Given the description of an element on the screen output the (x, y) to click on. 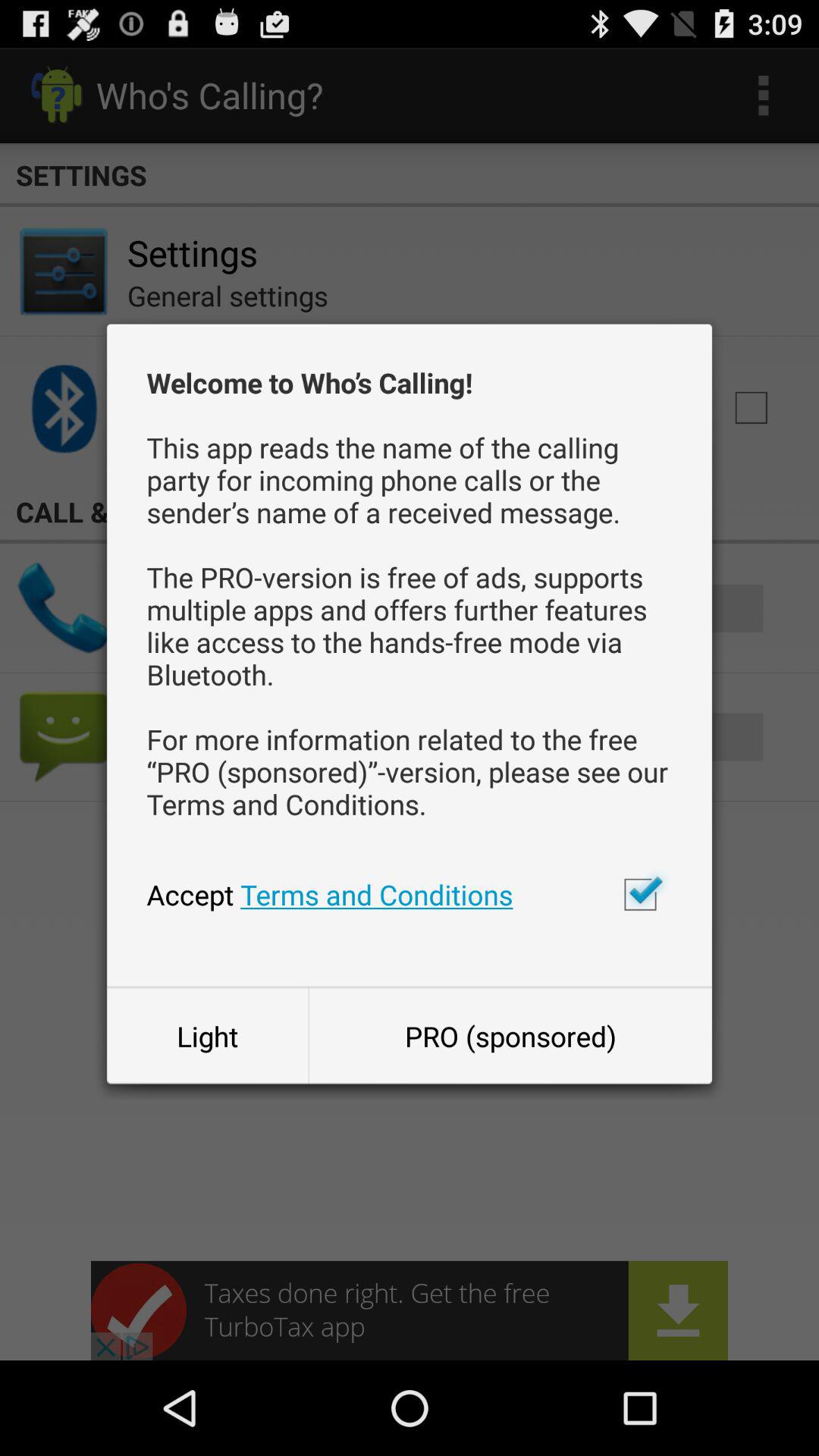
turn off button next to the pro (sponsored) (207, 1036)
